Given the description of an element on the screen output the (x, y) to click on. 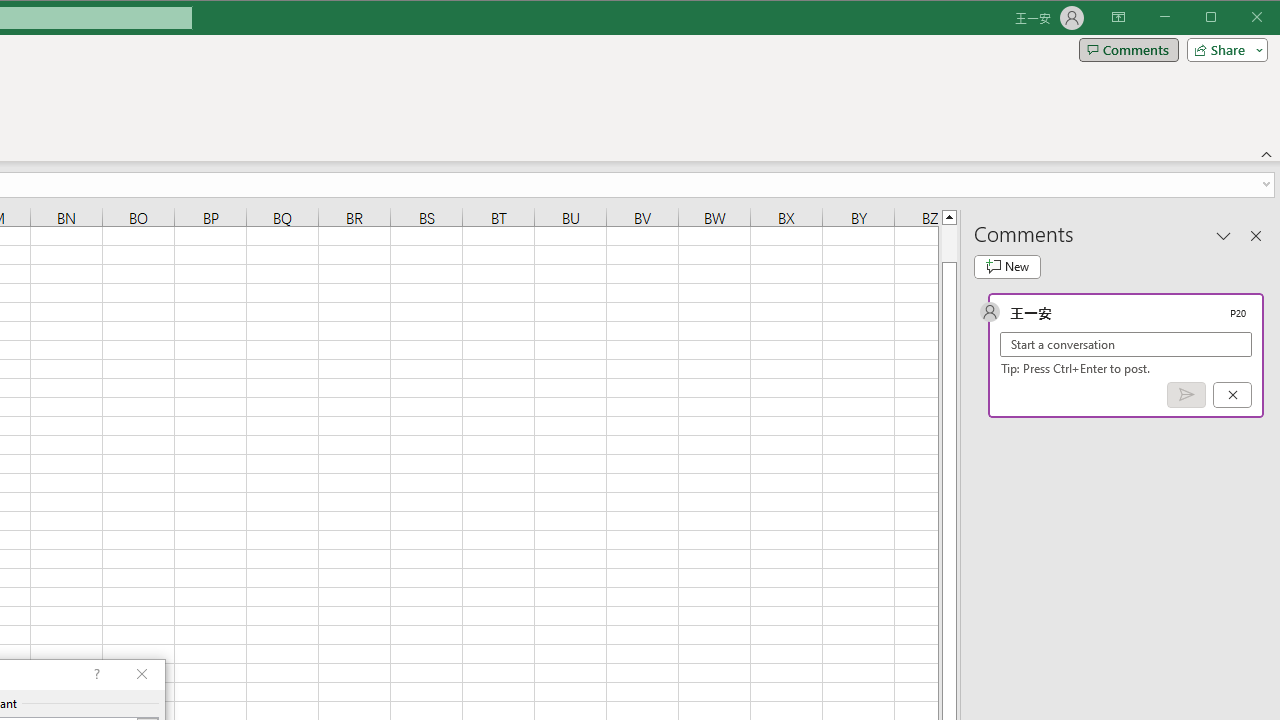
Share (1223, 49)
Maximize (1239, 18)
